Given the description of an element on the screen output the (x, y) to click on. 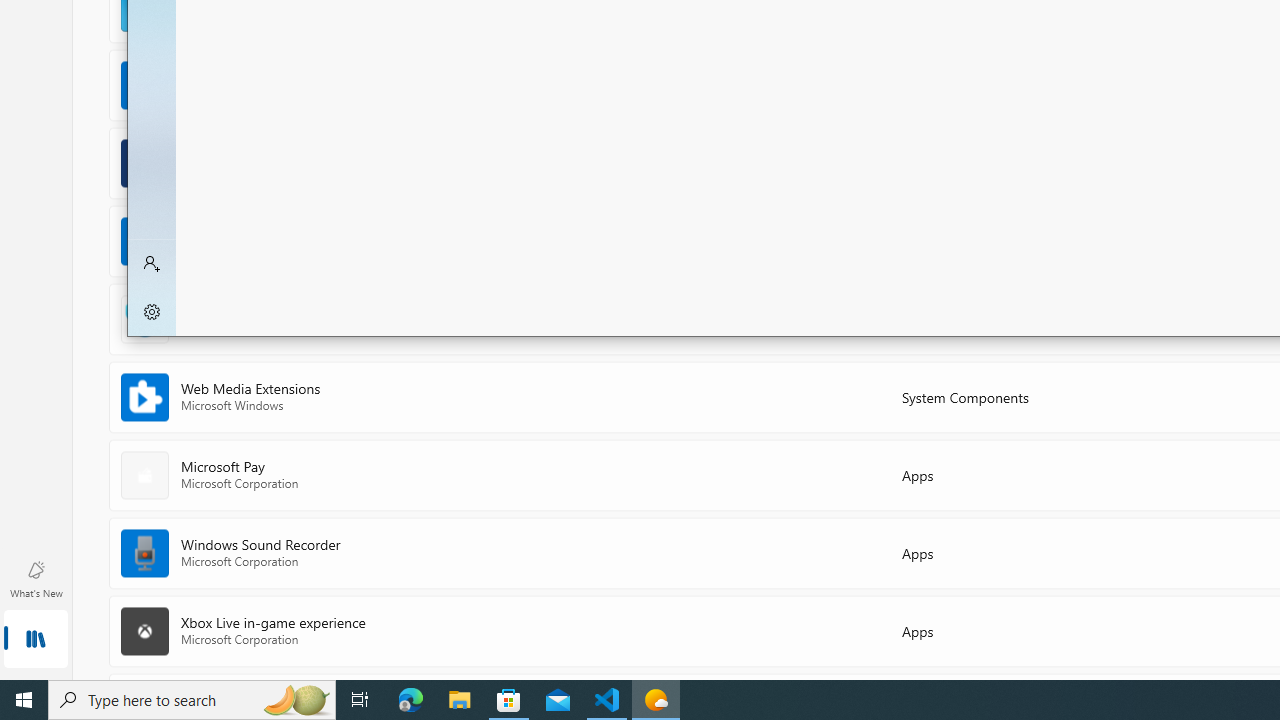
Microsoft Store - 1 running window (509, 699)
Type here to search (191, 699)
Microsoft Edge (411, 699)
What's New (35, 578)
Task View (359, 699)
Visual Studio Code - 1 running window (607, 699)
Library (35, 640)
File Explorer (460, 699)
Start (24, 699)
Search highlights icon opens search home window (295, 699)
